Given the description of an element on the screen output the (x, y) to click on. 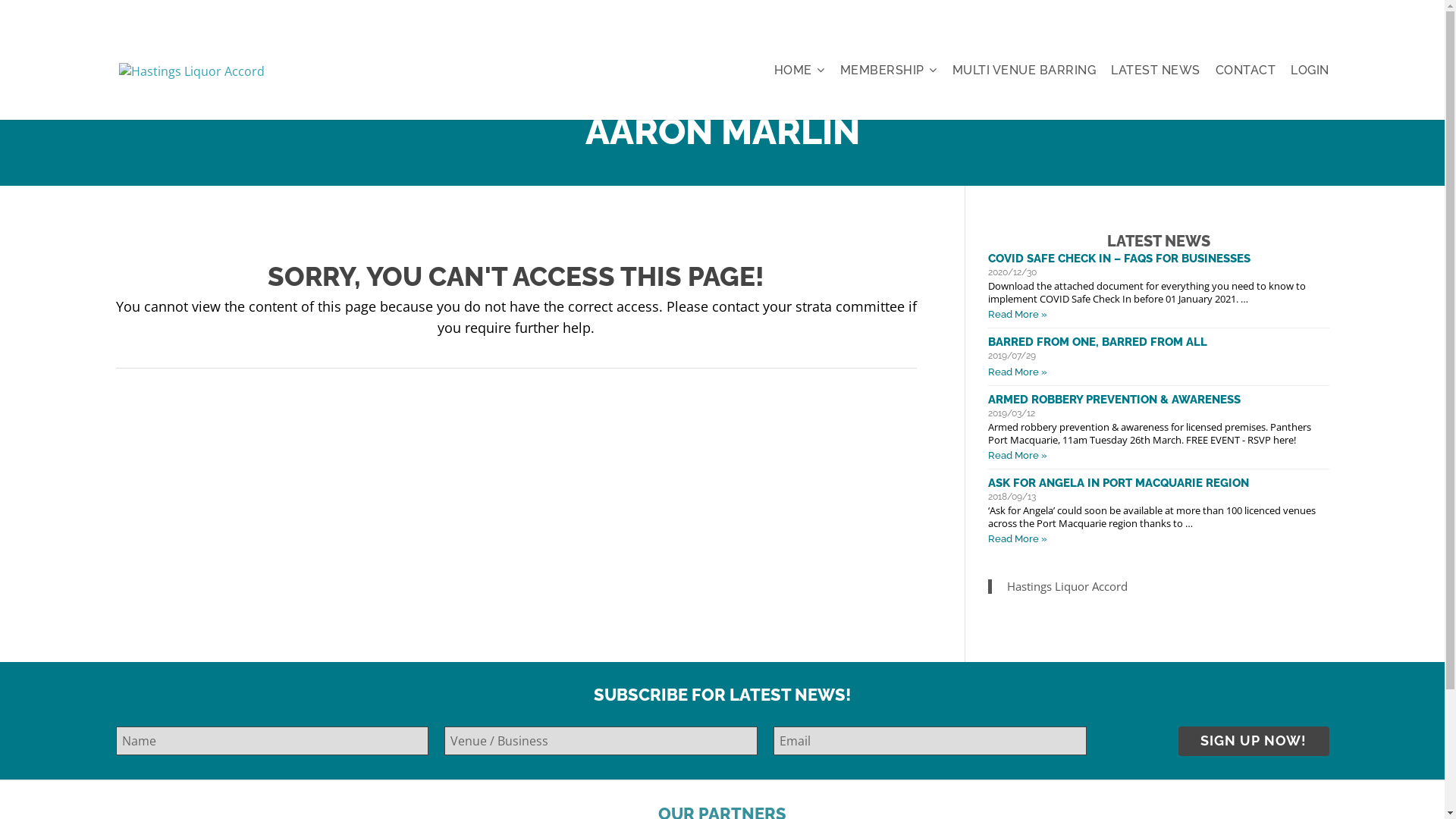
ASK FOR ANGELA IN PORT MACQUARIE REGION Element type: text (1157, 482)
CONTACT Element type: text (1244, 71)
LATEST NEWS Element type: text (1155, 71)
HOME Element type: text (802, 71)
BARRED FROM ONE, BARRED FROM ALL Element type: text (1157, 341)
MULTI VENUE BARRING Element type: text (1024, 71)
ARMED ROBBERY PREVENTION & AWARENESS Element type: text (1157, 399)
LOGIN Element type: text (1306, 71)
MEMBERSHIP Element type: text (888, 71)
Sign Up Now! Element type: text (1253, 741)
Hastings Liquor Accord Element type: text (1067, 585)
